Given the description of an element on the screen output the (x, y) to click on. 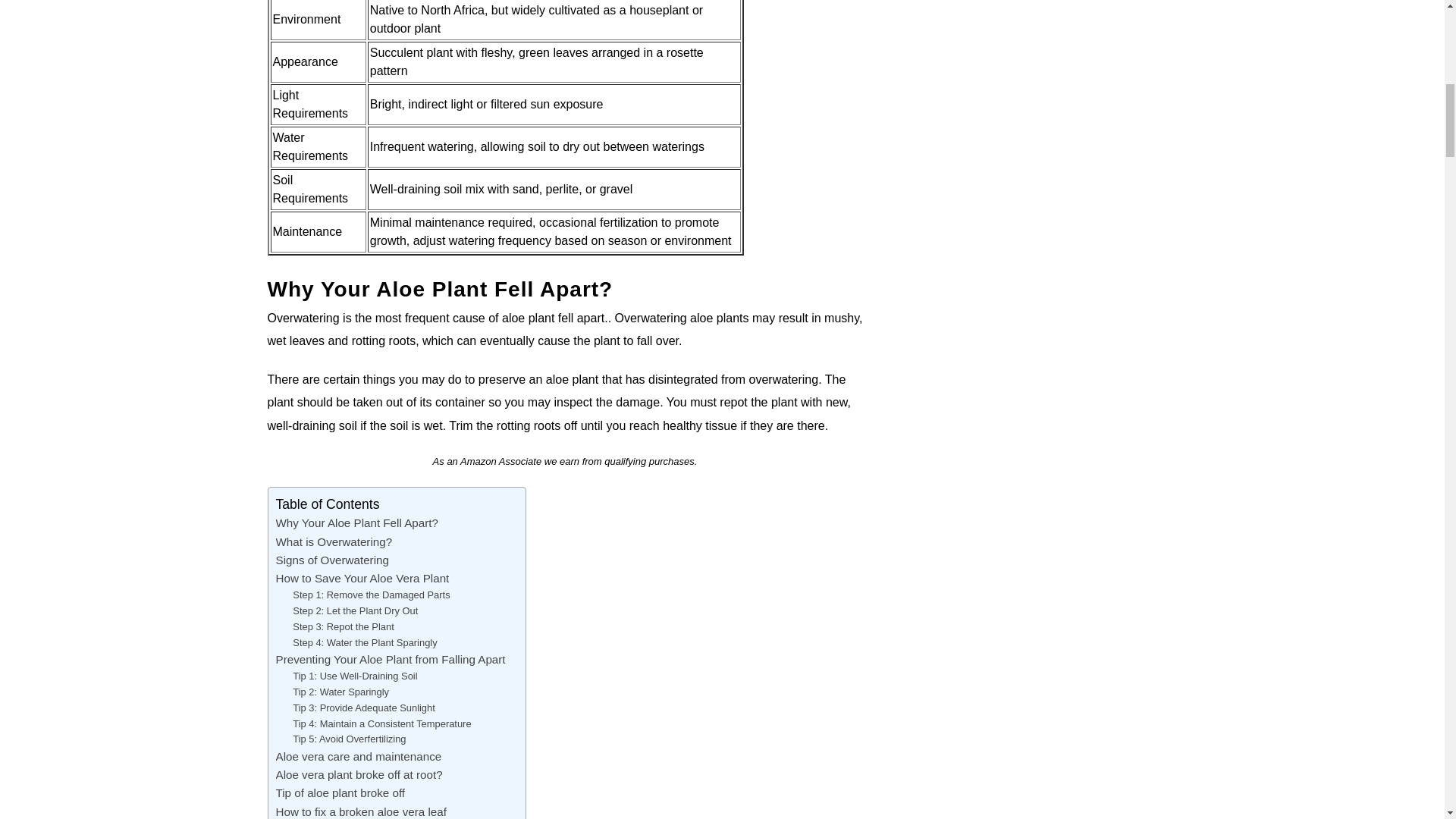
Tip 1: Use Well-Draining Soil (354, 676)
Step 4: Water the Plant Sparingly (364, 643)
Aloe vera plant broke off at root? (359, 774)
Tip 2: Water Sparingly (340, 692)
How to Save Your Aloe Vera Plant (362, 578)
Tip 4: Maintain a Consistent Temperature (381, 723)
Tip 3: Provide Adequate Sunlight (363, 708)
Step 2: Let the Plant Dry Out (354, 611)
Signs of Overwatering (332, 560)
What is Overwatering? (334, 542)
Tip 4: Maintain a Consistent Temperature (381, 723)
Tip 1: Use Well-Draining Soil (354, 676)
Step 2: Let the Plant Dry Out (354, 611)
How to fix a broken aloe vera leaf (361, 811)
Step 4: Water the Plant Sparingly (364, 643)
